Given the description of an element on the screen output the (x, y) to click on. 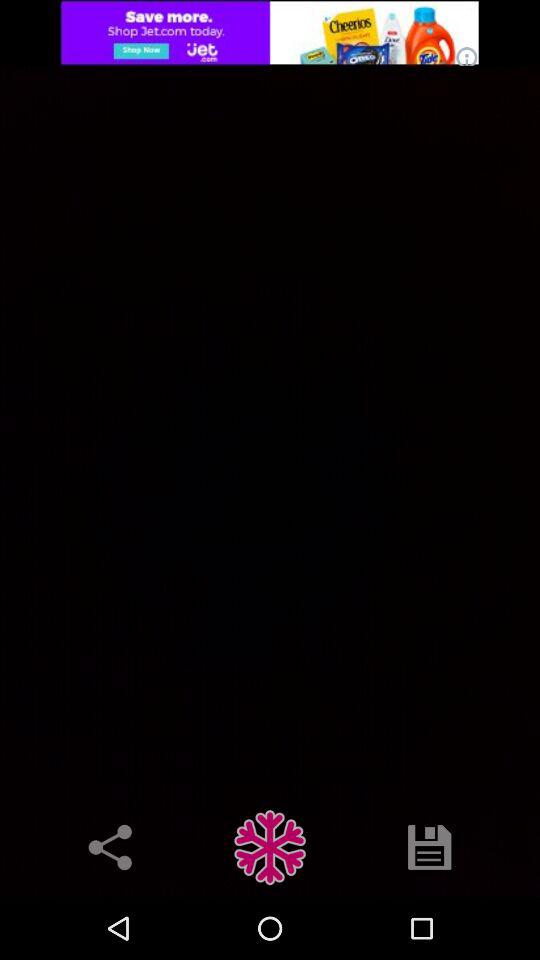
open advertisement (270, 32)
